Given the description of an element on the screen output the (x, y) to click on. 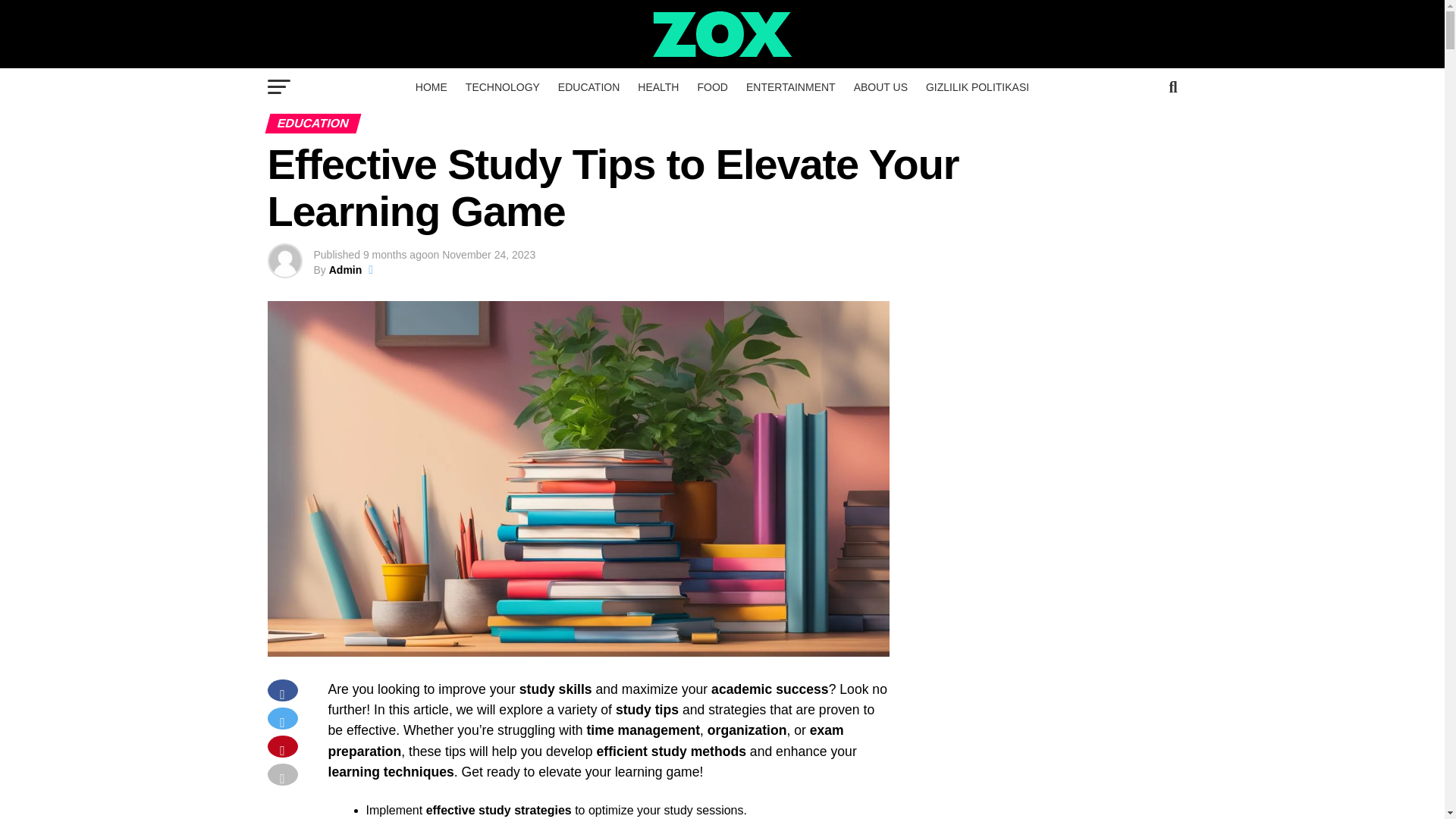
EDUCATION (588, 86)
HEALTH (657, 86)
ABOUT US (880, 86)
ENTERTAINMENT (790, 86)
Posts by Admin (345, 269)
FOOD (711, 86)
TECHNOLOGY (502, 86)
HOME (431, 86)
